Given the description of an element on the screen output the (x, y) to click on. 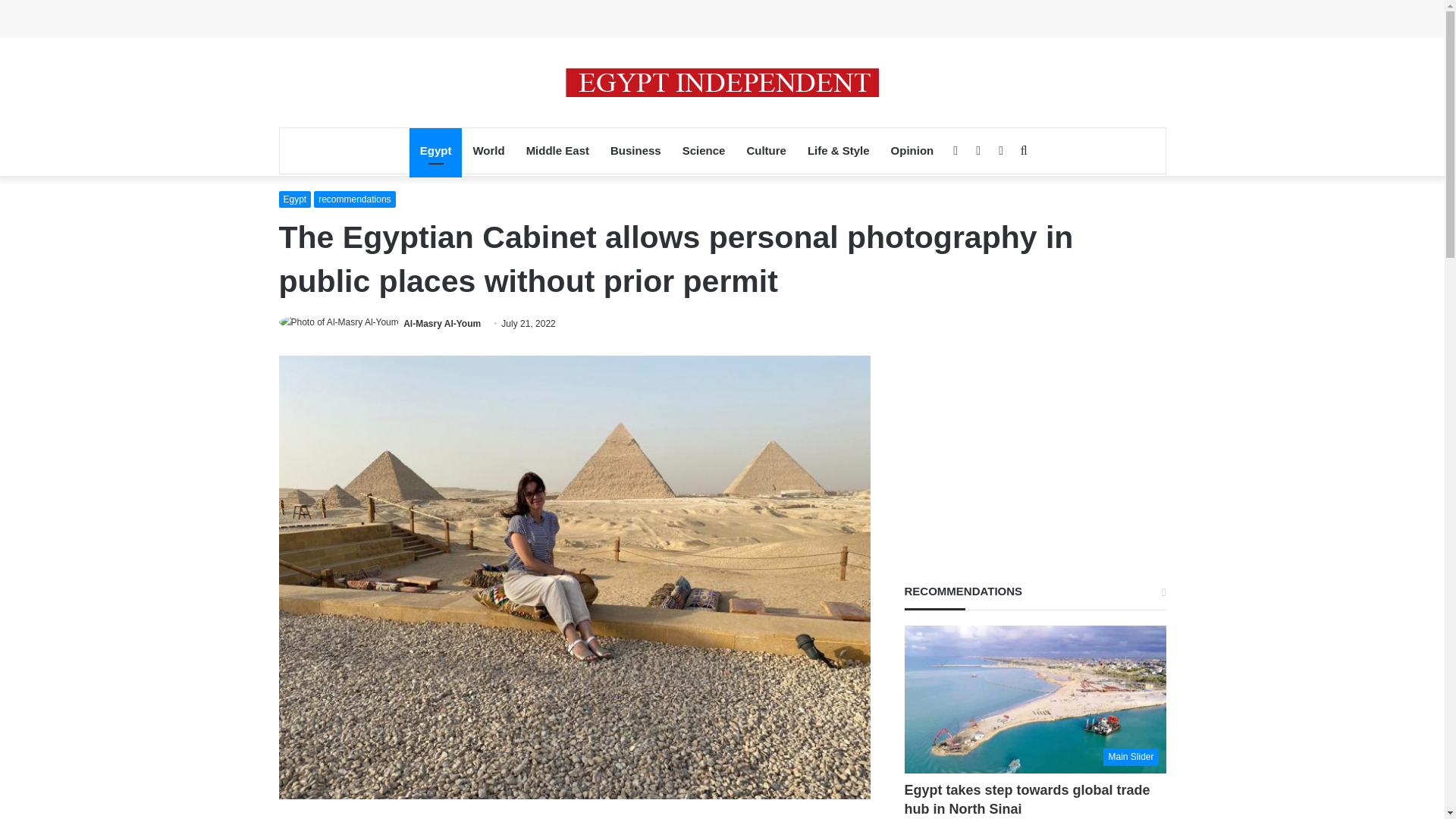
Al-Masry Al-Youm (441, 323)
recommendations (354, 199)
Opinion (912, 150)
Al-Masry Al-Youm (441, 323)
Egypt Independent (722, 82)
Middle East (557, 150)
World (488, 150)
Business (635, 150)
Science (703, 150)
Culture (765, 150)
Egypt (295, 199)
Egypt (436, 150)
